Given the description of an element on the screen output the (x, y) to click on. 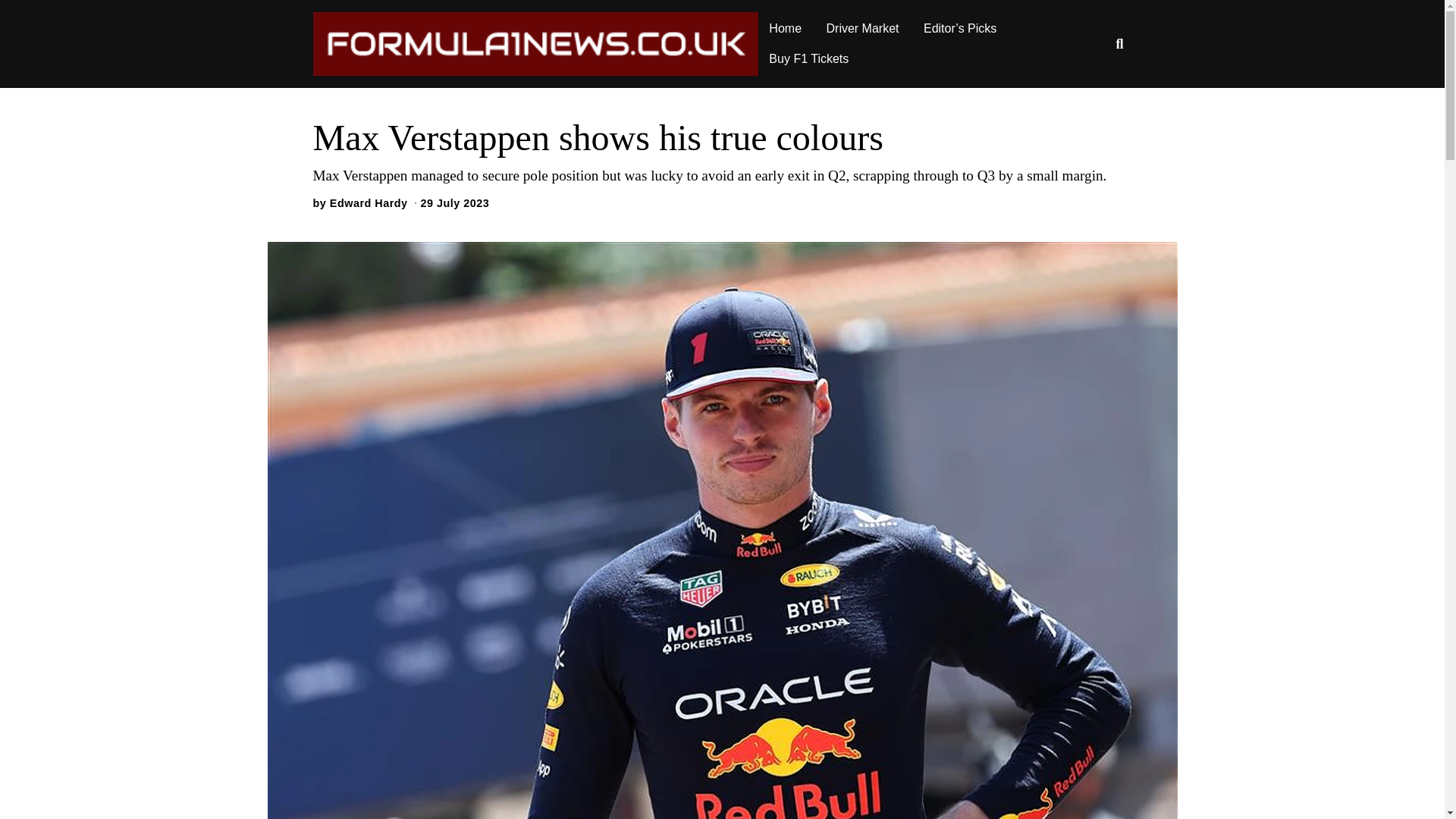
Home (785, 28)
Driver Market (862, 28)
Edward Hardy (368, 203)
Buy F1 Tickets (808, 59)
